Given the description of an element on the screen output the (x, y) to click on. 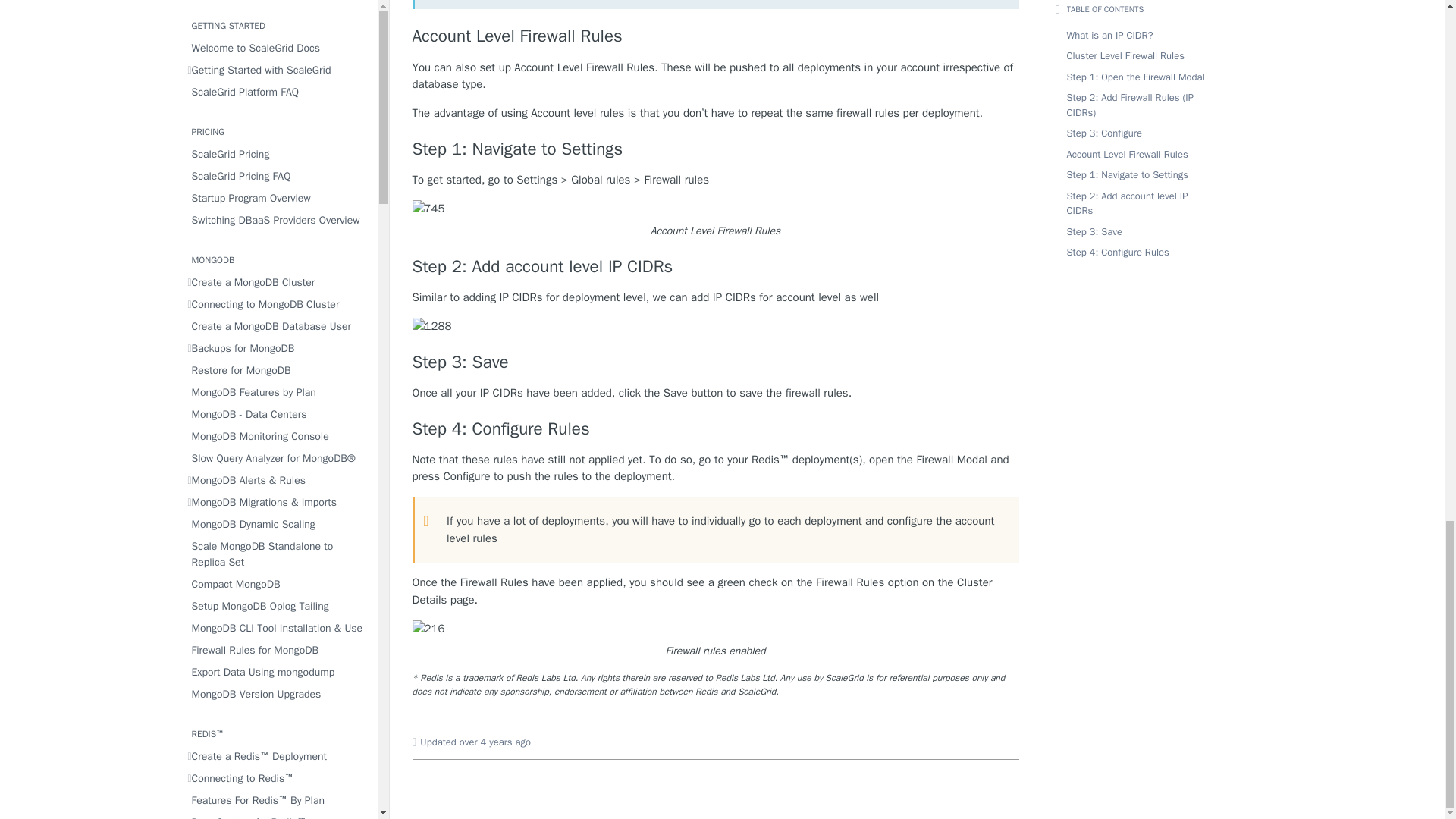
Step 3: Save (715, 362)
Step 2: Add account level IP CIDRs (715, 266)
Capture.PNG (428, 628)
Step 1: Navigate to Settings (715, 148)
Step 4: Configure Rules (715, 428)
Account Level Firewall Rules (715, 35)
